Given the description of an element on the screen output the (x, y) to click on. 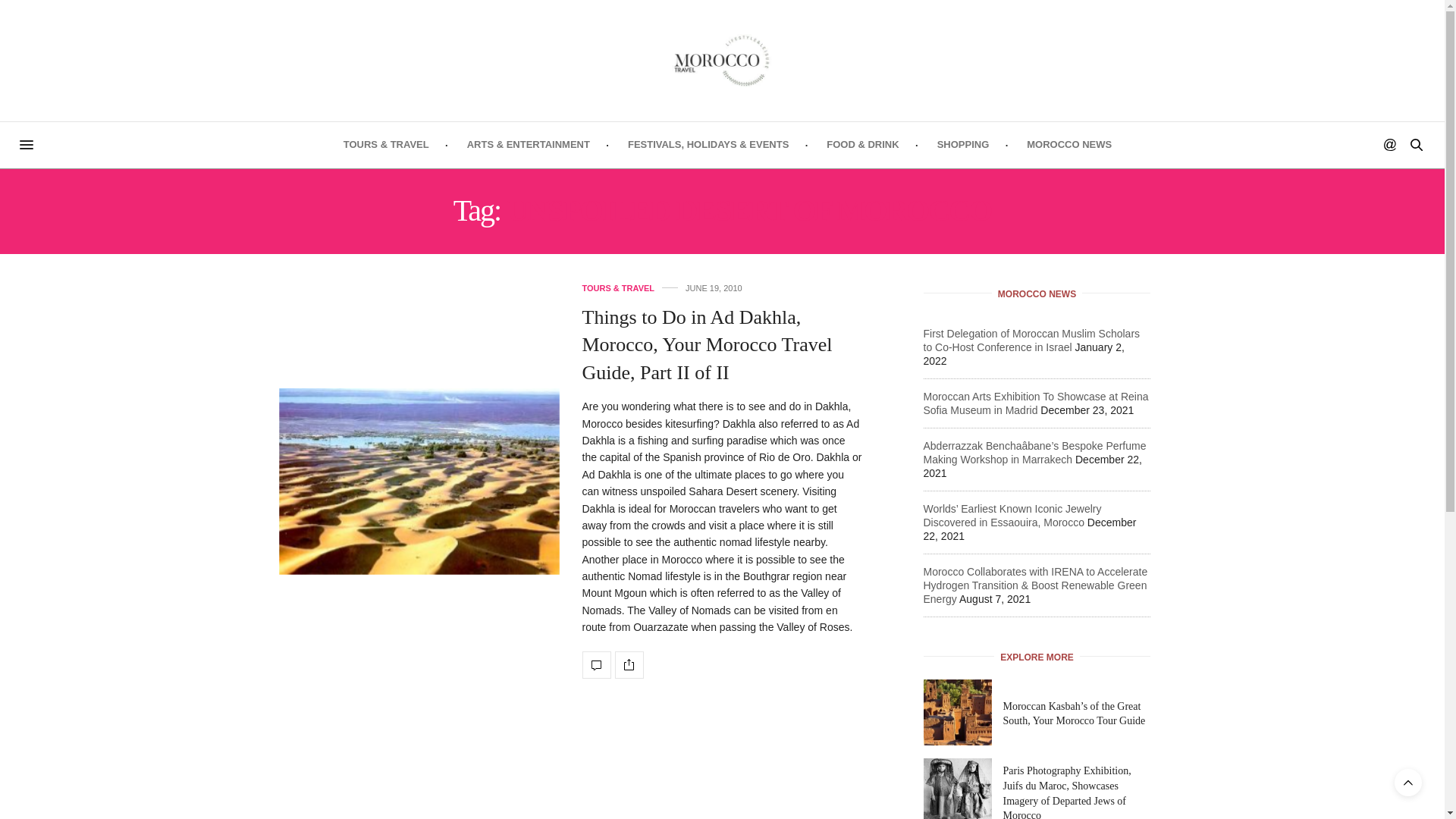
SHOPPING (963, 144)
Morocco Travel Blog (722, 60)
MOROCCO NEWS (1069, 144)
